Given the description of an element on the screen output the (x, y) to click on. 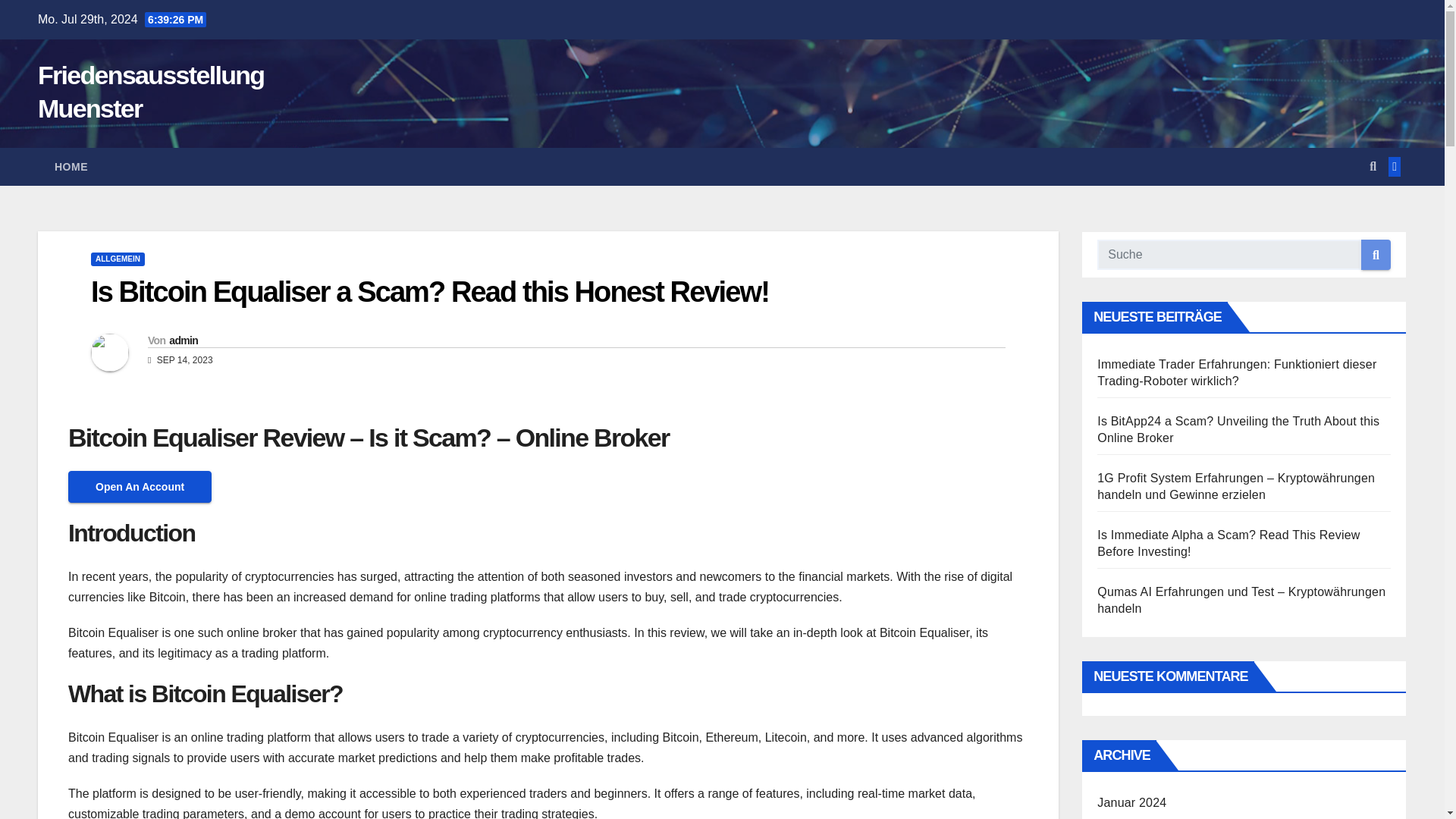
Open An Account (139, 486)
Open An Account (139, 486)
ALLGEMEIN (117, 259)
Friedensausstellung Muenster (150, 91)
admin (183, 340)
HOME (70, 166)
Is Bitcoin Equaliser a Scam? Read this Honest Review! (429, 291)
Home (70, 166)
